Given the description of an element on the screen output the (x, y) to click on. 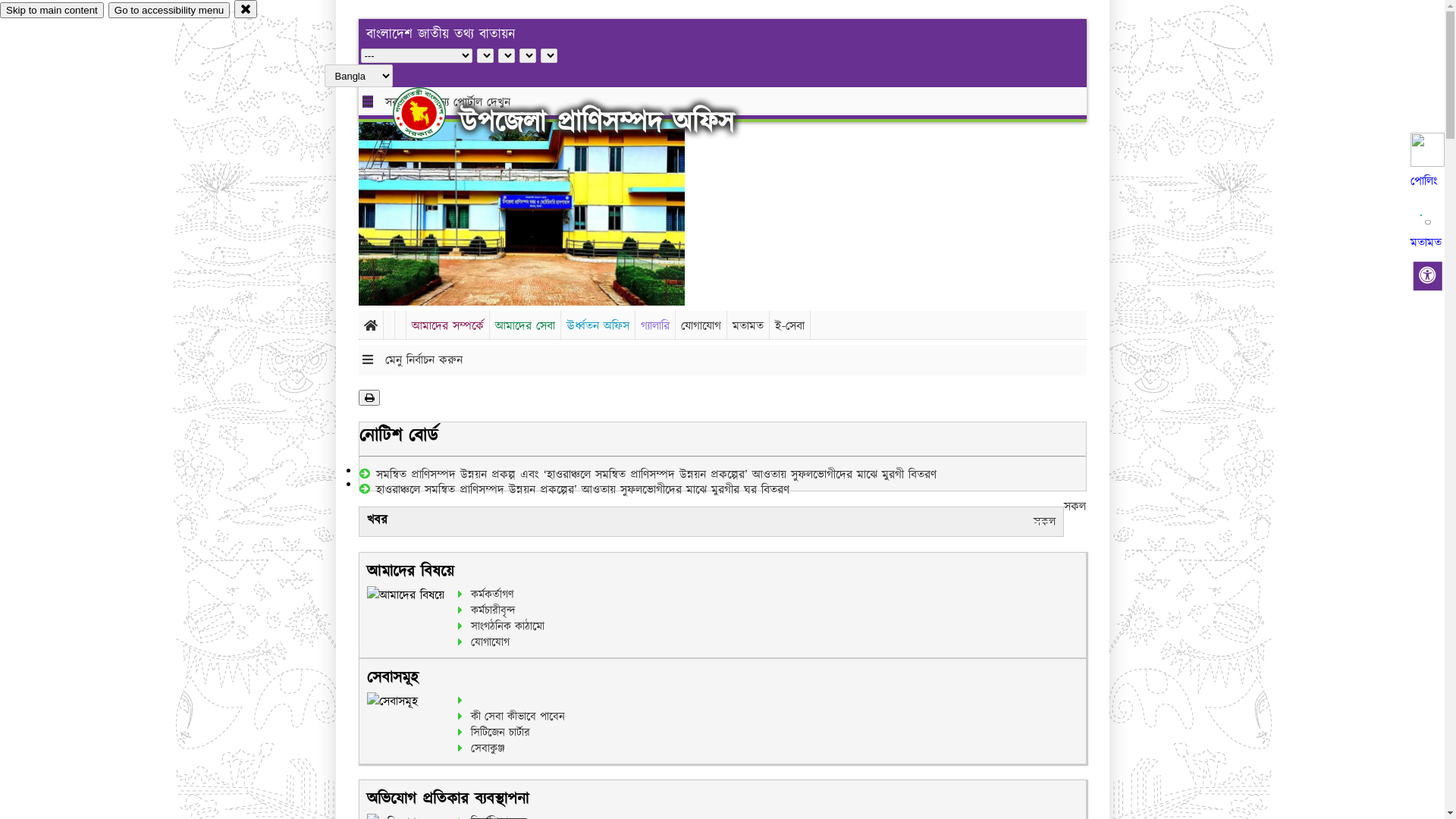
Go to accessibility menu Element type: text (168, 10)
close Element type: hover (245, 9)

                
             Element type: hover (431, 112)
Skip to main content Element type: text (51, 10)
